Given the description of an element on the screen output the (x, y) to click on. 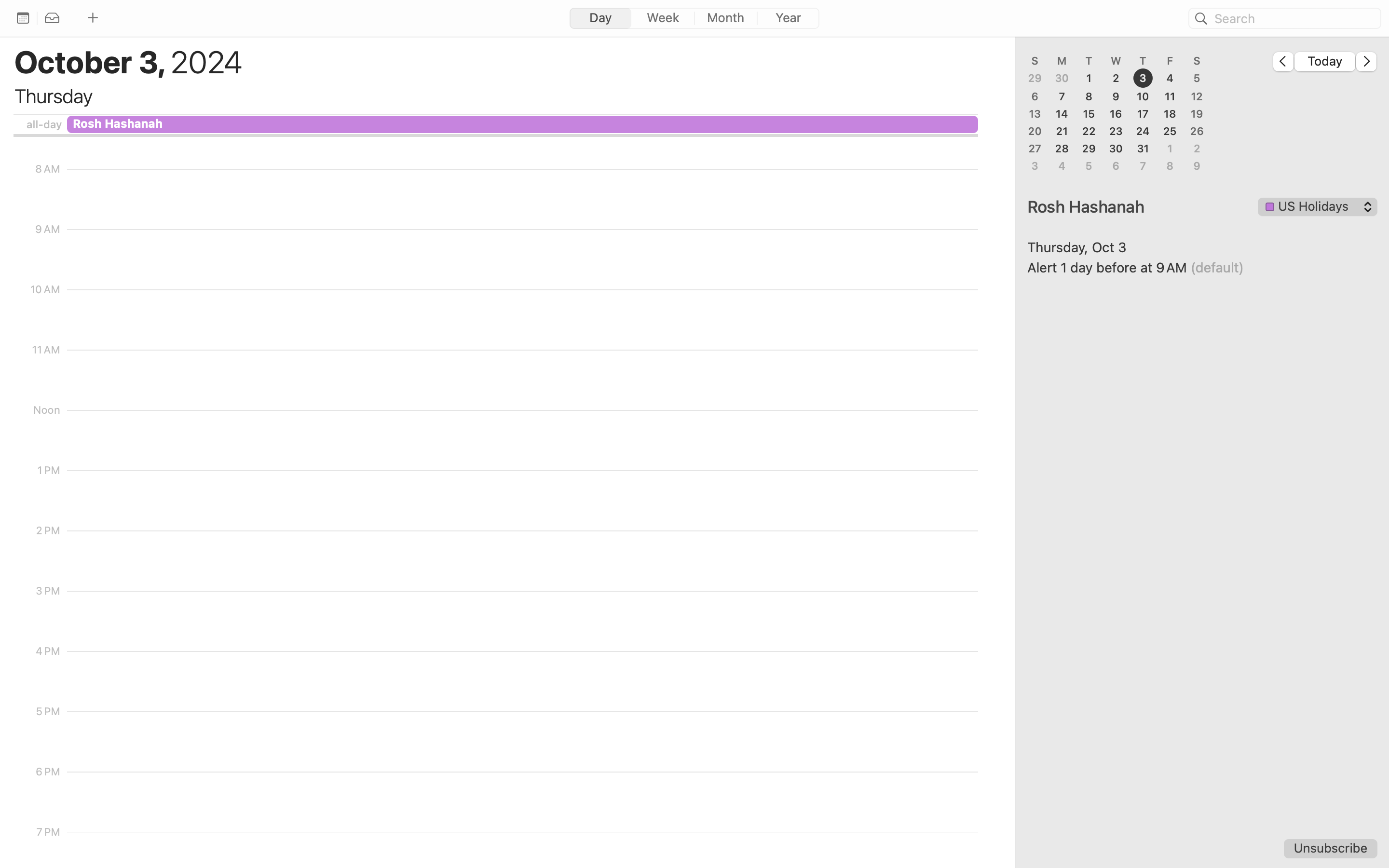
27 Element type: AXStaticText (1034, 148)
17 Element type: AXStaticText (1142, 113)
10 Element type: AXStaticText (1142, 96)
12 Element type: AXStaticText (1196, 96)
